Given the description of an element on the screen output the (x, y) to click on. 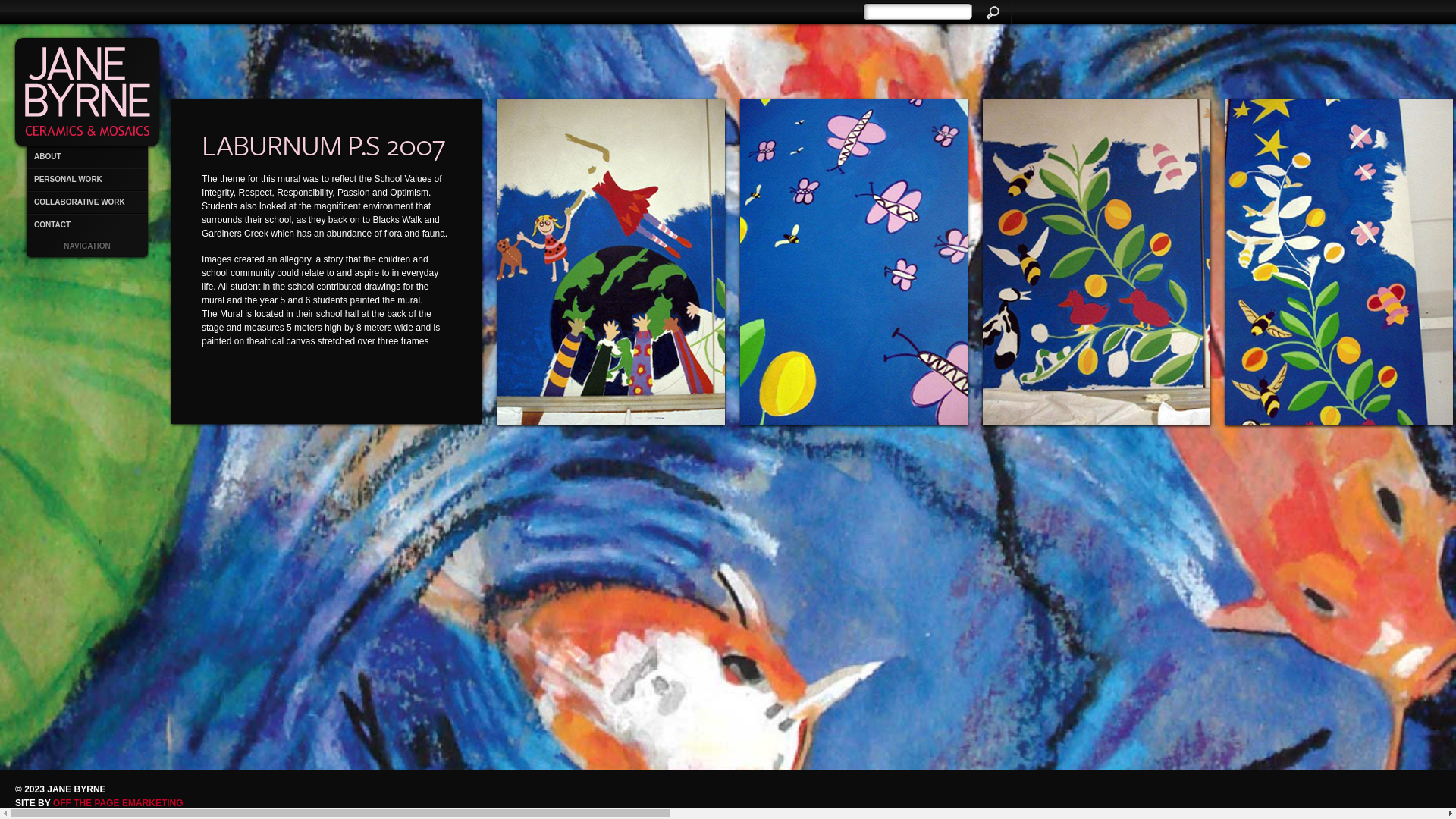
ABOUT Element type: text (86, 156)
COLLABORATIVE WORK Element type: text (86, 202)
CONTACT Element type: text (86, 224)
PERSONAL WORK Element type: text (86, 179)
NAVIGATION Element type: text (86, 246)
OFF THE PAGE EMARKETING Element type: text (118, 802)
Search Element type: text (991, 11)
